Given the description of an element on the screen output the (x, y) to click on. 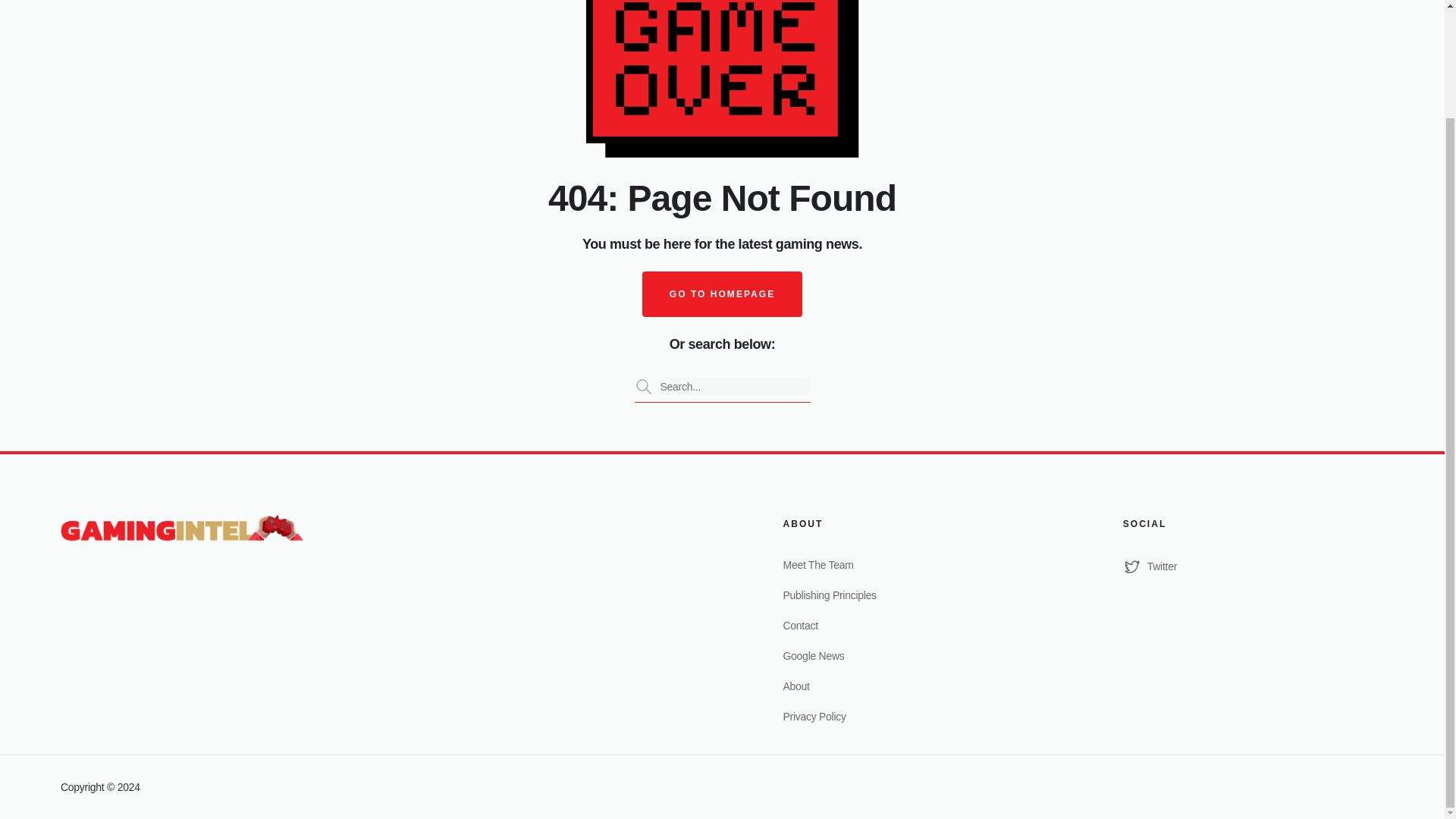
Publishing Principles (913, 595)
Google News (913, 655)
Privacy Policy (913, 716)
Twitter (1253, 566)
About (913, 685)
Contact (913, 625)
Meet The Team (913, 564)
GO TO HOMEPAGE (722, 293)
